Given the description of an element on the screen output the (x, y) to click on. 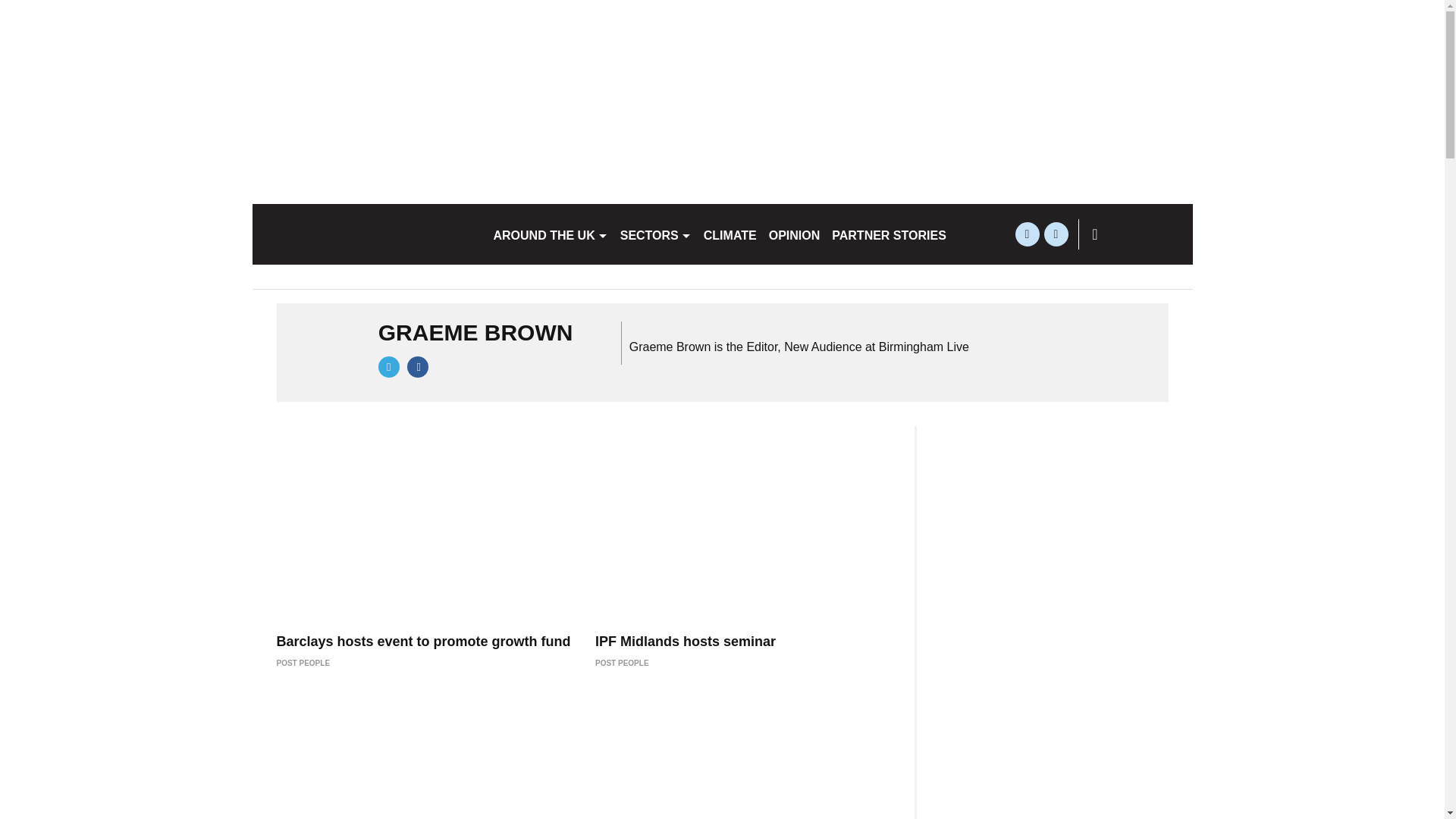
twitter (1026, 233)
OPINION (794, 233)
birminghampost (365, 233)
SECTORS (655, 233)
linkedin (1055, 233)
PARTNER STORIES (888, 233)
CLIMATE (729, 233)
AROUND THE UK (549, 233)
